Given the description of an element on the screen output the (x, y) to click on. 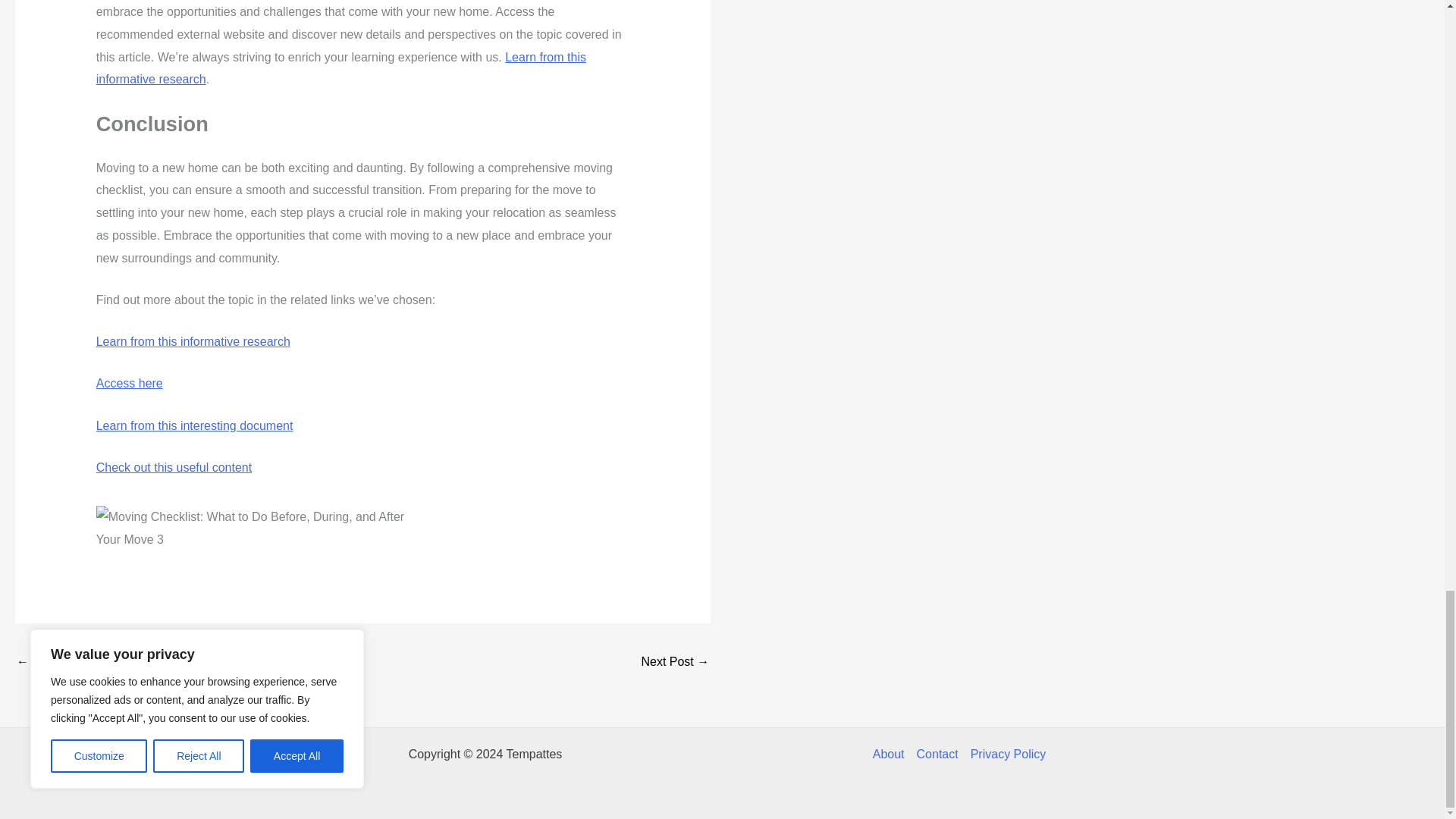
Check out this useful content (173, 467)
Learn from this interesting document (195, 425)
Access here (129, 382)
Learn from this informative research (341, 68)
Cleaning Up After Renovation Projects (674, 663)
State-of-the-Art Facilities at the Netball Academy (61, 663)
Learn from this informative research (192, 341)
